Given the description of an element on the screen output the (x, y) to click on. 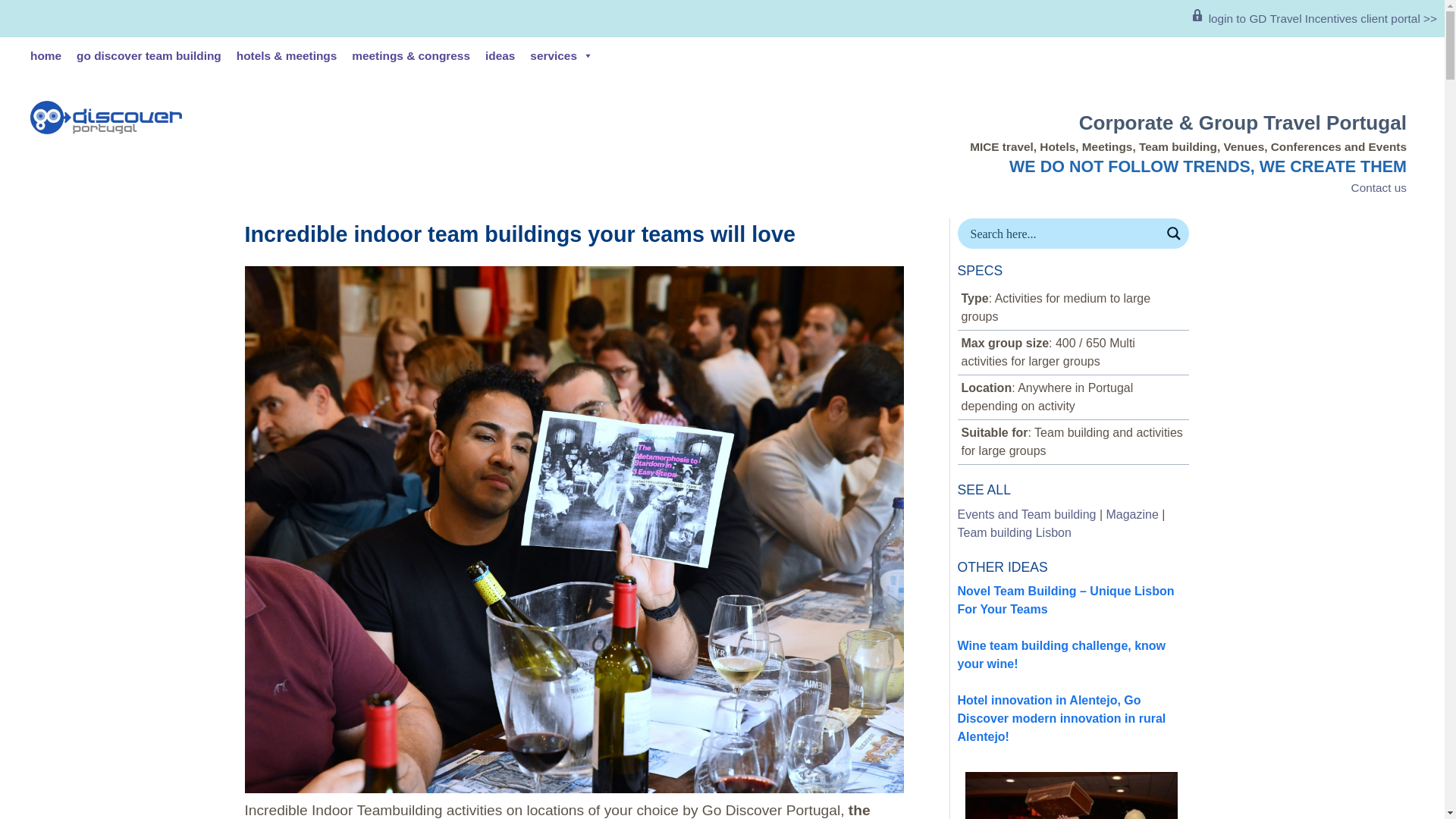
Team building Lisbon (1013, 532)
Wine team building challenge, know your wine! (1061, 654)
go discover team building (148, 55)
services (560, 55)
ideas (499, 55)
Wine team building challenge, know your wine! (1061, 654)
Go Discover Portugal Travel Logo (106, 117)
Meetings and congress in Portugal (410, 55)
Events and Team building (1026, 513)
